Given the description of an element on the screen output the (x, y) to click on. 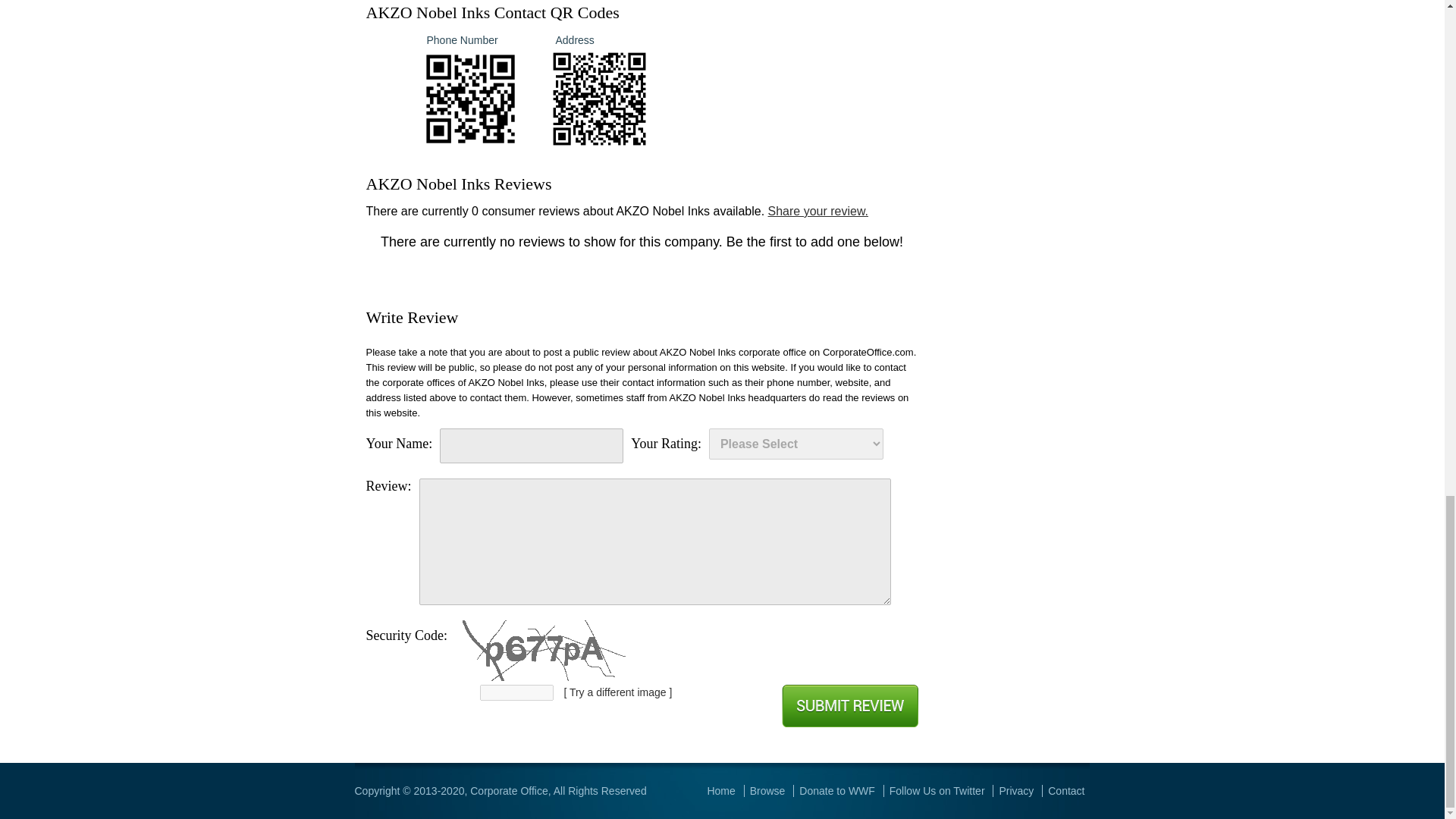
Home (720, 790)
Donate to WWF (837, 790)
Share your review. (818, 210)
Privacy (1015, 790)
Browse (767, 790)
Corporate Office (508, 790)
Follow Us on Twitter (937, 790)
Contact (1066, 790)
